Given the description of an element on the screen output the (x, y) to click on. 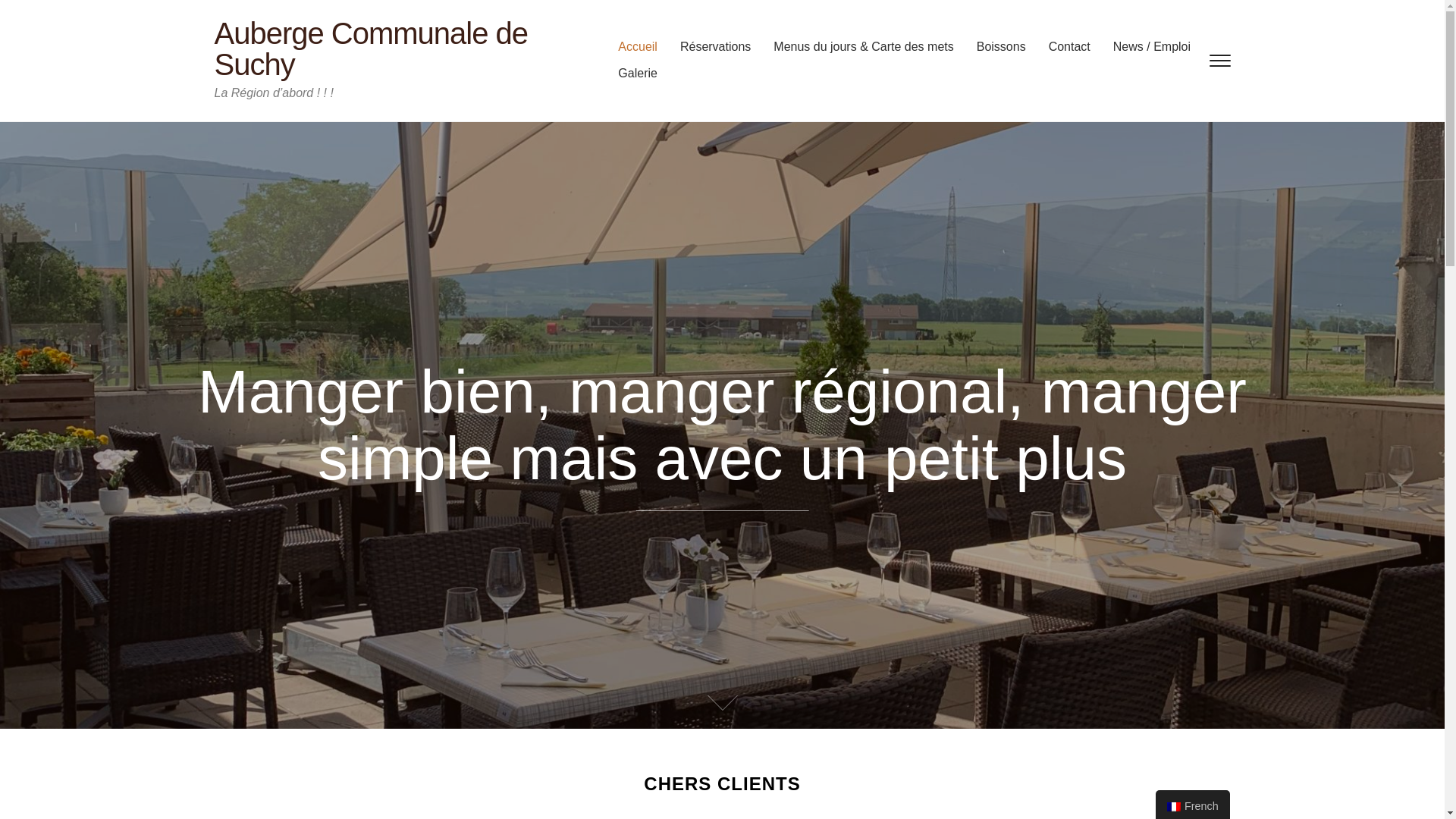
French Element type: hover (1173, 806)
Auberge Communale de Suchy Element type: text (370, 48)
Galerie Element type: text (626, 77)
Accueil Element type: text (626, 50)
Boissons Element type: text (989, 50)
Contact Element type: text (1058, 50)
Menus du jours & Carte des mets Element type: text (851, 50)
News / Emploi Element type: text (1140, 50)
Toggle sidebar & navigation Element type: text (1219, 60)
